Given the description of an element on the screen output the (x, y) to click on. 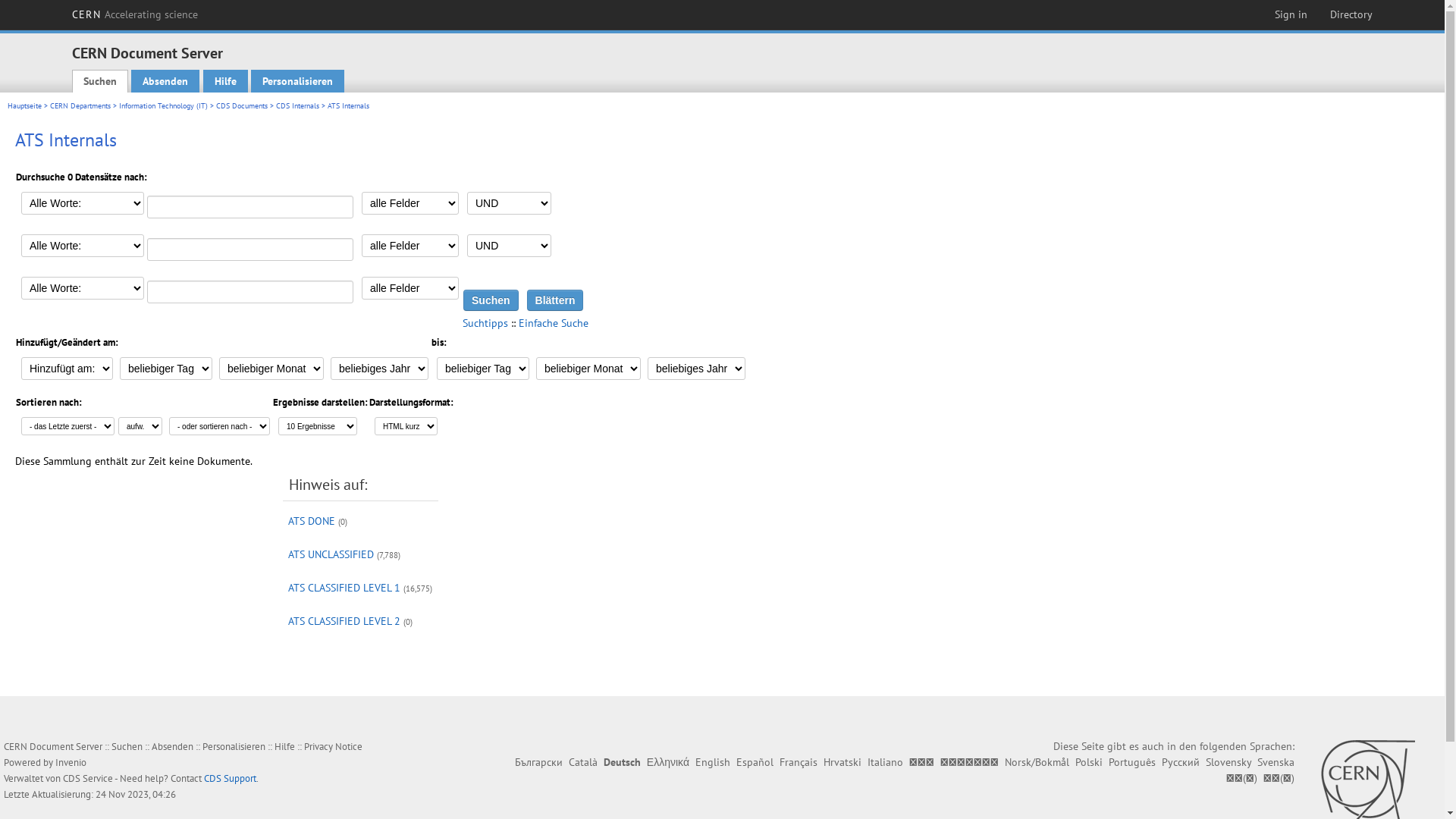
CERN Departments Element type: text (80, 105)
Svenska Element type: text (1275, 761)
Absenden Element type: text (165, 80)
Directory Element type: text (1351, 14)
English Element type: text (712, 761)
Slovensky Element type: text (1228, 761)
CERN Accelerating science Element type: text (134, 14)
ATS CLASSIFIED LEVEL 1 Element type: text (344, 587)
Sign in Element type: text (1290, 14)
Hauptseite Element type: text (24, 105)
Hilfe Element type: text (284, 746)
Information Technology (IT) Element type: text (163, 105)
ATS CLASSIFIED LEVEL 2 Element type: text (344, 620)
Suchen Element type: text (100, 80)
ATS UNCLASSIFIED Element type: text (330, 554)
Suchen Element type: text (126, 746)
CDS Documents Element type: text (241, 105)
Privacy Notice Element type: text (333, 746)
Personalisieren Element type: text (297, 80)
CDS Service Element type: text (87, 777)
Einfache Suche Element type: text (553, 322)
CDS Support Element type: text (229, 777)
Polski Element type: text (1088, 761)
CERN Document Server Element type: text (147, 52)
Italiano Element type: text (885, 761)
Suchtipps Element type: text (485, 322)
Absenden Element type: text (172, 746)
Invenio Element type: text (70, 762)
ATS DONE Element type: text (311, 520)
CDS Internals Element type: text (297, 105)
Suchen Element type: text (490, 299)
Hilfe Element type: text (225, 80)
Hrvatski Element type: text (842, 761)
Personalisieren Element type: text (233, 746)
